Given the description of an element on the screen output the (x, y) to click on. 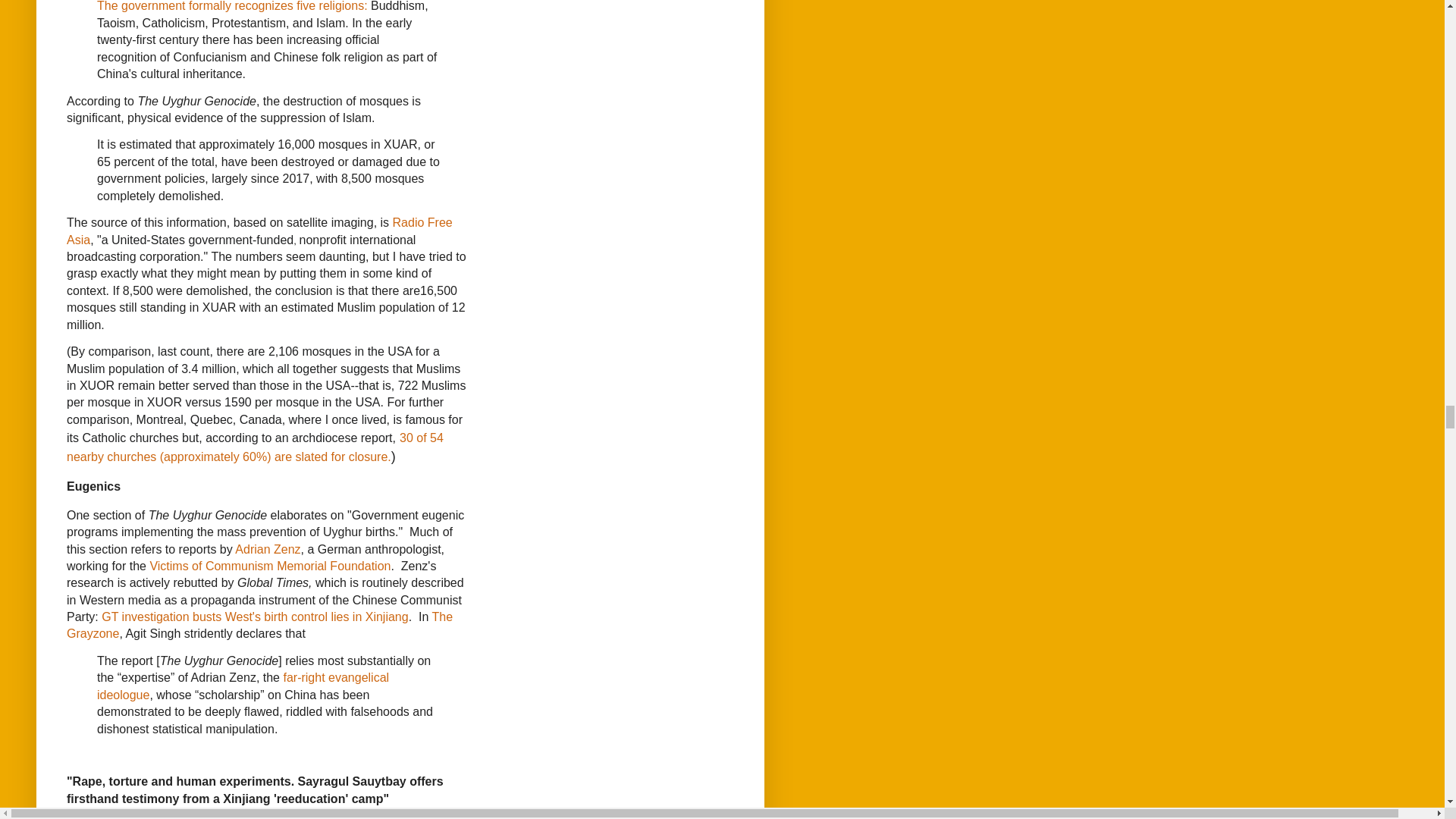
Protestantism (248, 22)
Catholicism (173, 22)
Confucianism (210, 56)
Culture of China (170, 73)
Taoism (116, 22)
Islam (330, 22)
Buddhism (398, 6)
Chinese folk religion (327, 56)
